Given the description of an element on the screen output the (x, y) to click on. 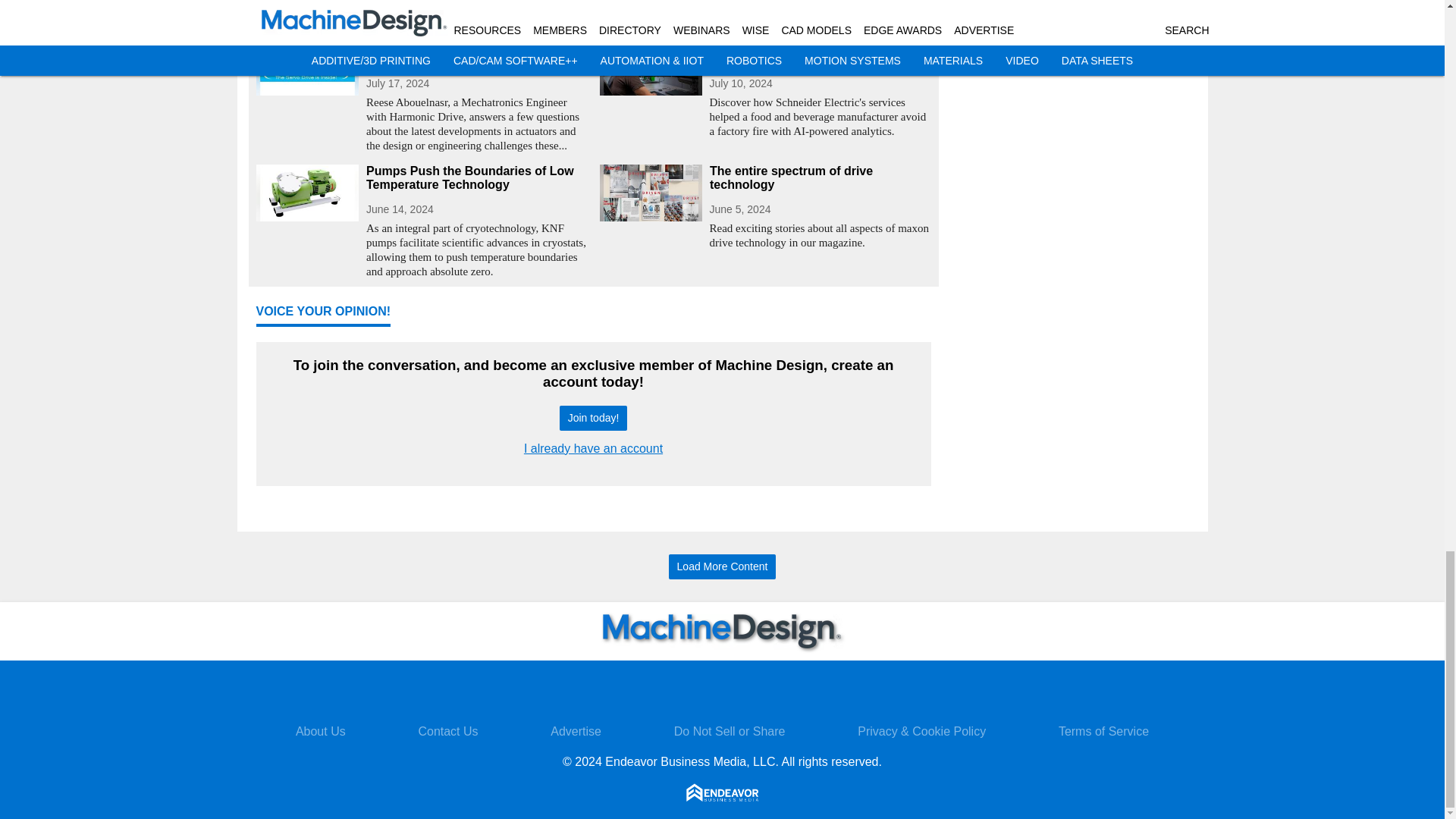
Pumps Push the Boundaries of Low Temperature Technology (476, 177)
The entire spectrum of drive technology (820, 177)
Join today! (593, 417)
How to Build Better Robotics with Integrated Actuators (476, 52)
